Given the description of an element on the screen output the (x, y) to click on. 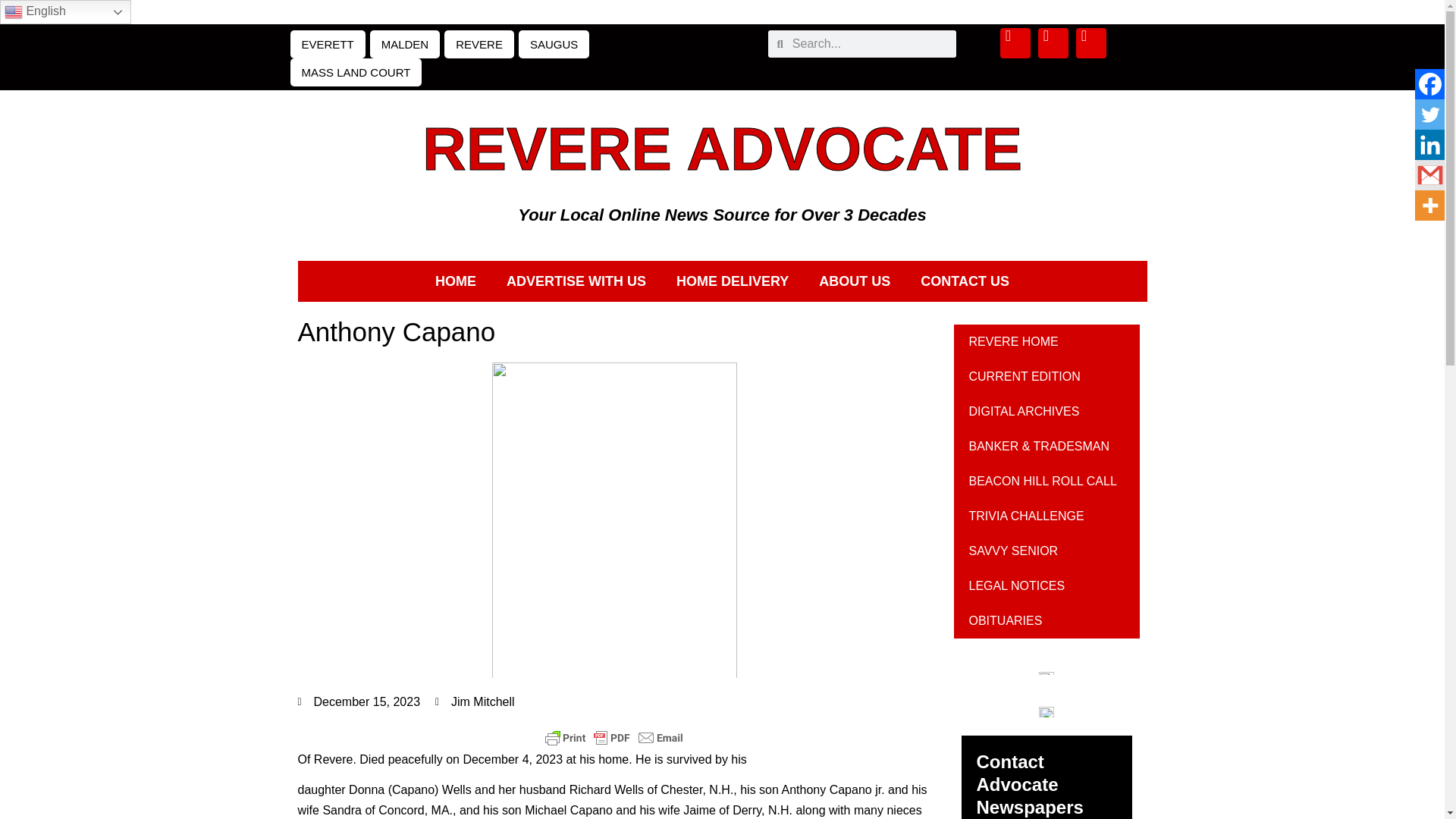
EVERETT (327, 44)
BEACON HILL ROLL CALL (1046, 481)
DIGITAL ARCHIVES (1046, 411)
CURRENT EDITION (1046, 376)
MASS LAND COURT (355, 72)
December 15, 2023 (358, 701)
Jim Mitchell (475, 701)
MALDEN (405, 44)
SAUGUS (553, 44)
TRIVIA CHALLENGE (1046, 515)
